Given the description of an element on the screen output the (x, y) to click on. 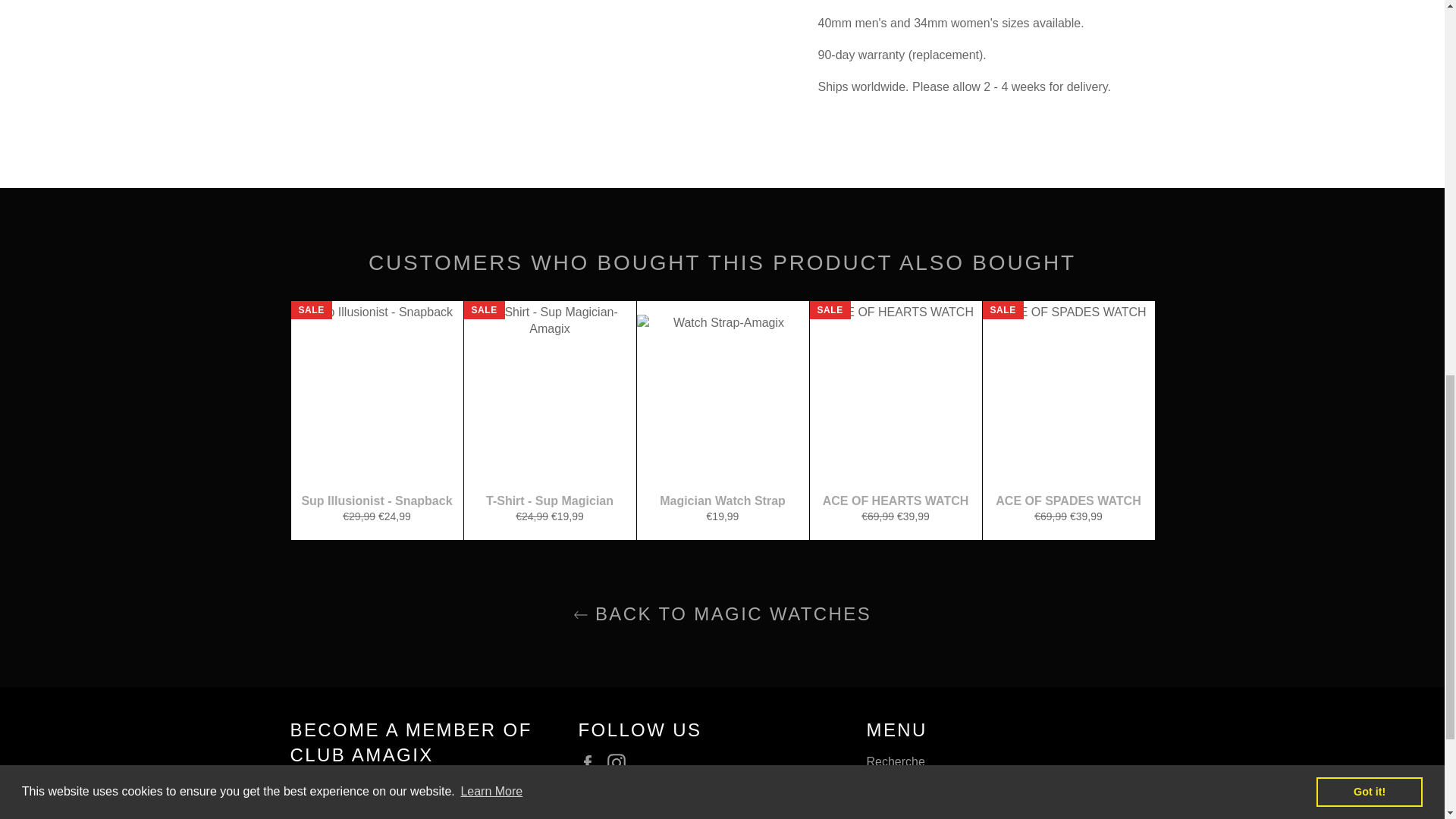
Amagix on Facebook (591, 762)
Amagix on Instagram (620, 762)
